Given the description of an element on the screen output the (x, y) to click on. 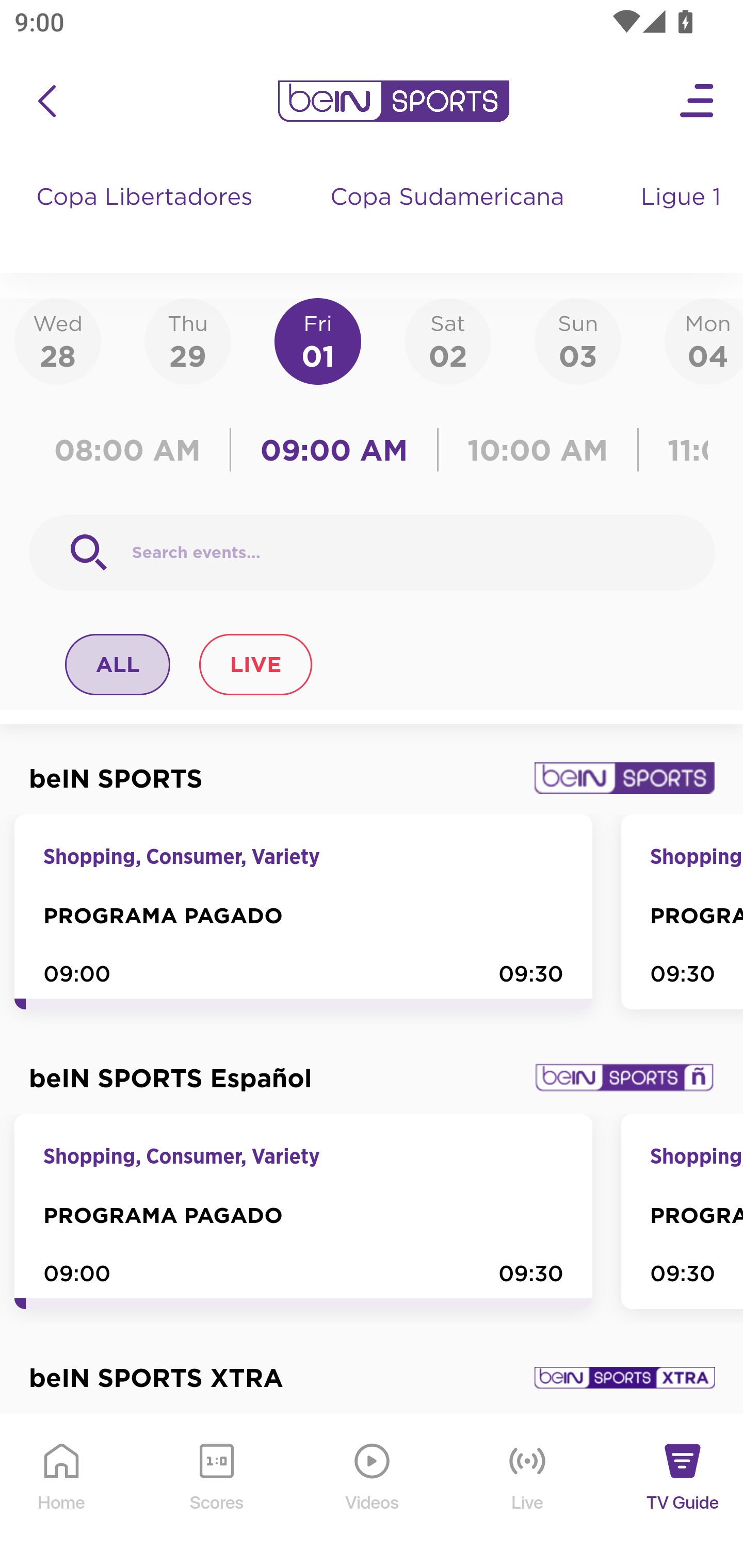
en-us?platform=mobile_android bein logo (392, 101)
icon back (46, 101)
Open Menu Icon (697, 101)
Copa Libertadores (146, 216)
Copa Sudamericana (448, 216)
Ligue 1 (682, 216)
Wed28 (58, 340)
Thu29 (187, 340)
Fri01 (318, 340)
Sat02 (447, 340)
Sun03 (578, 340)
Mon04 (703, 340)
08:00 AM (134, 449)
09:00 AM (334, 449)
10:00 AM (537, 449)
ALL (118, 663)
LIVE (255, 663)
Home Home Icon Home (61, 1491)
Scores Scores Icon Scores (216, 1491)
Videos Videos Icon Videos (372, 1491)
TV Guide TV Guide Icon TV Guide (682, 1491)
